Given the description of an element on the screen output the (x, y) to click on. 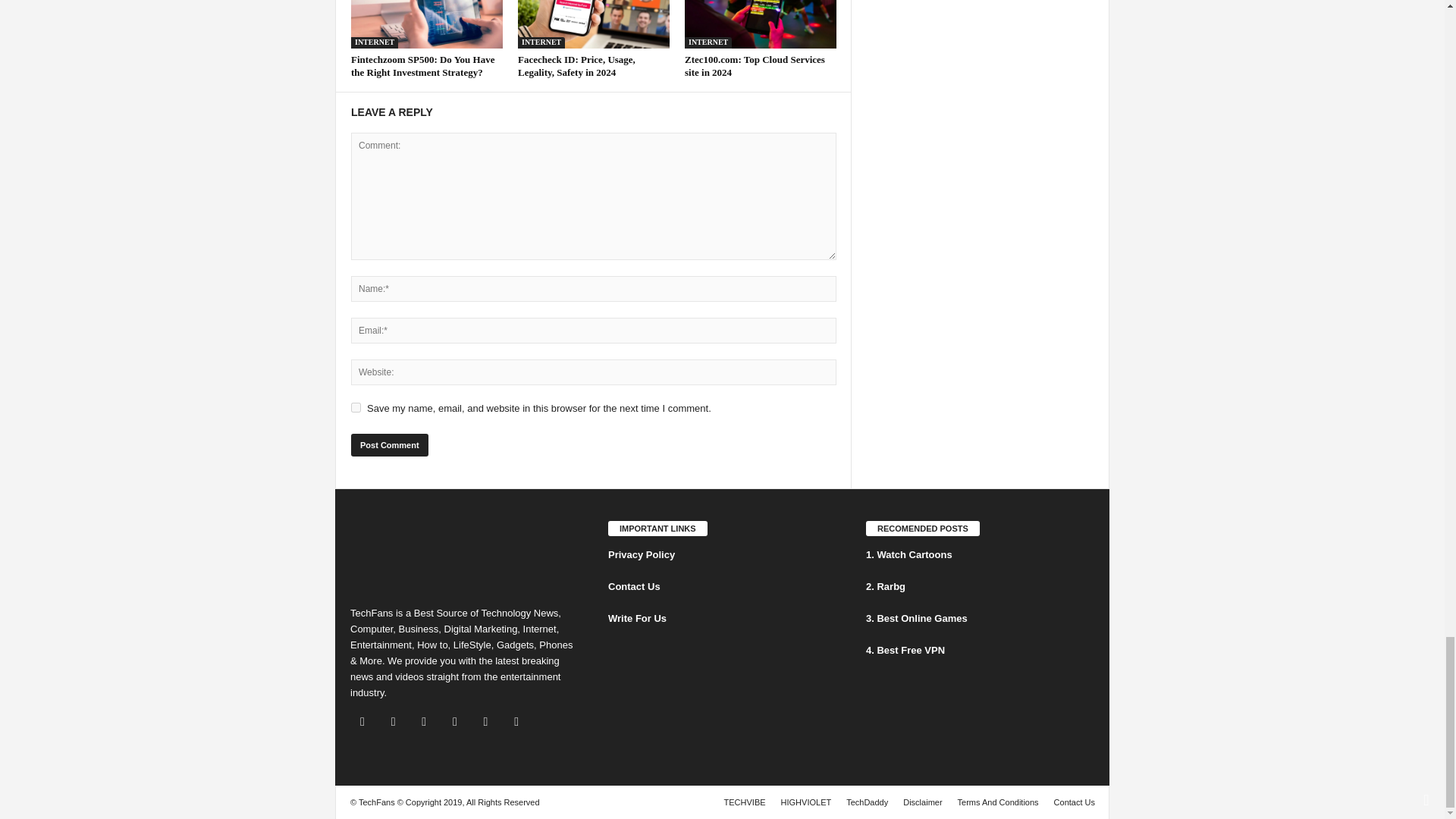
Post Comment (389, 445)
yes (355, 407)
